Given the description of an element on the screen output the (x, y) to click on. 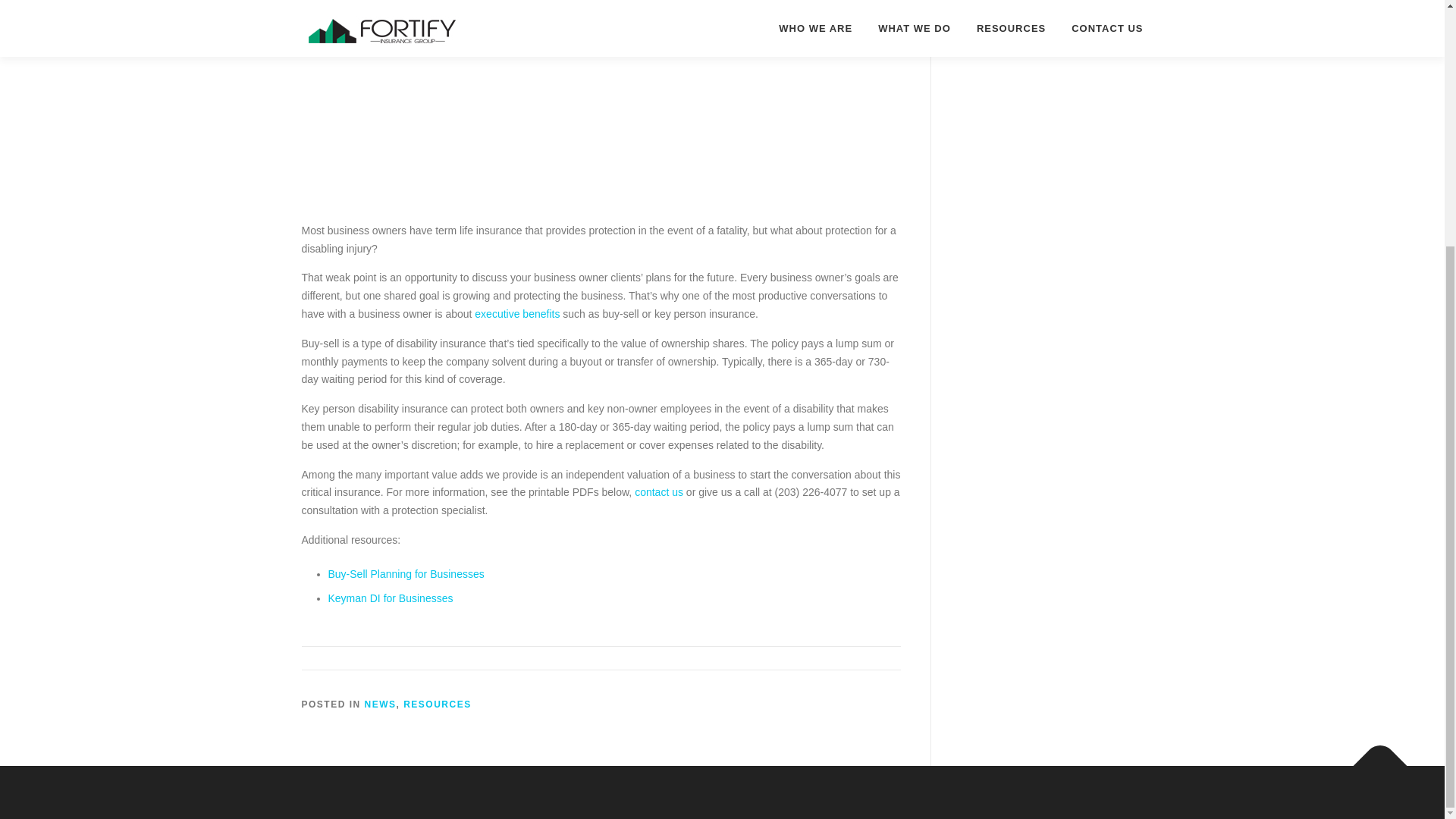
RESOURCES (437, 704)
Keyman DI for Businesses (389, 598)
executive benefits (516, 313)
NEWS (380, 704)
contact us (658, 491)
Buy-Sell Planning for Businesses (405, 573)
Back To Top (1372, 757)
